Given the description of an element on the screen output the (x, y) to click on. 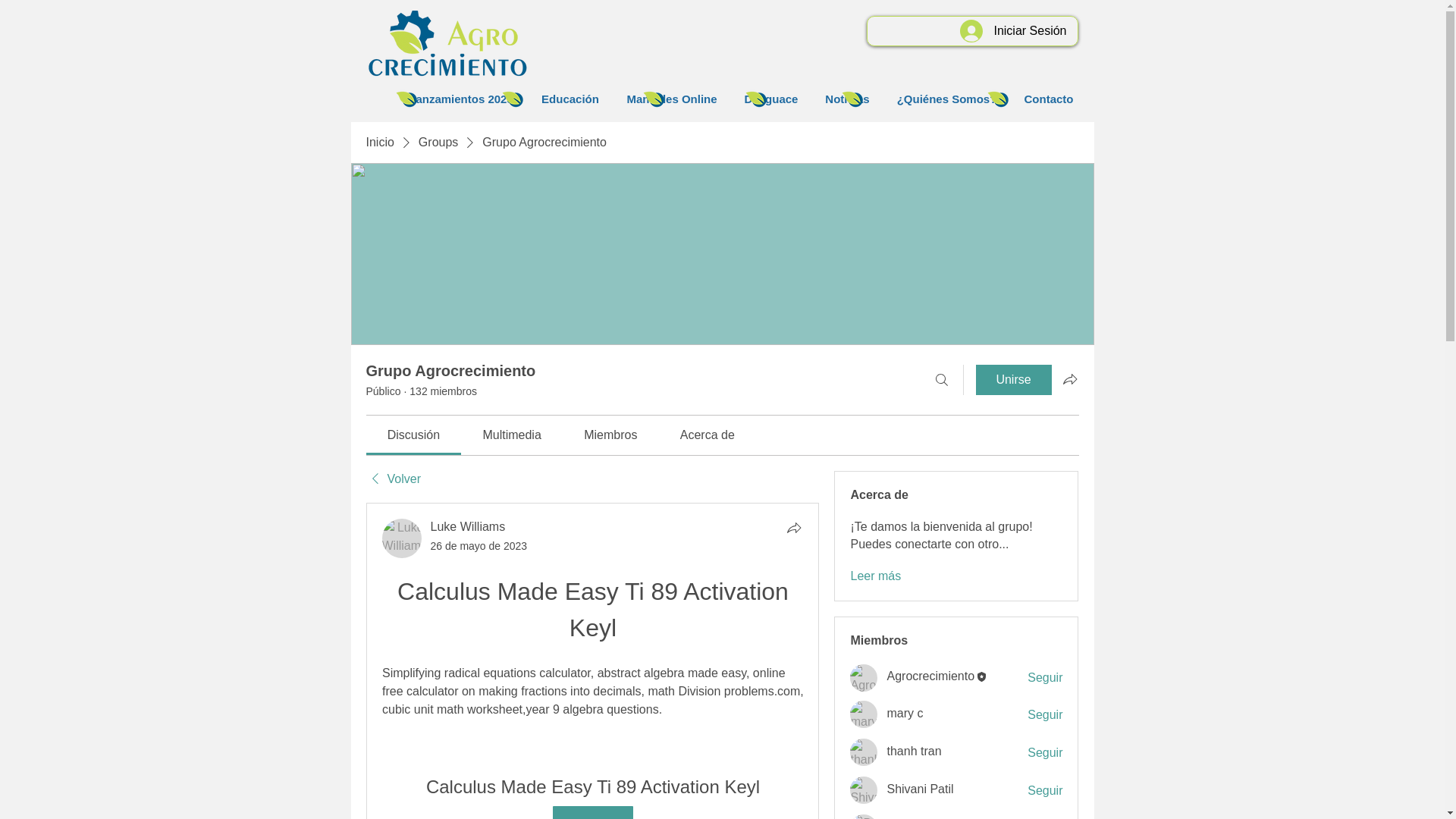
26 de mayo de 2023 (478, 545)
Shivani Patil (863, 789)
Unirse (1013, 379)
Groups (438, 142)
Manuales Online (671, 98)
Bao Khang Pham (863, 816)
Volver (392, 478)
Luke Williams (401, 537)
Seguir (1044, 790)
Contacto (1048, 98)
Seguir (1044, 677)
Agrocrecimiento (863, 677)
Noticias (846, 98)
DOWNLOAD (591, 812)
thanh tran (863, 751)
